Given the description of an element on the screen output the (x, y) to click on. 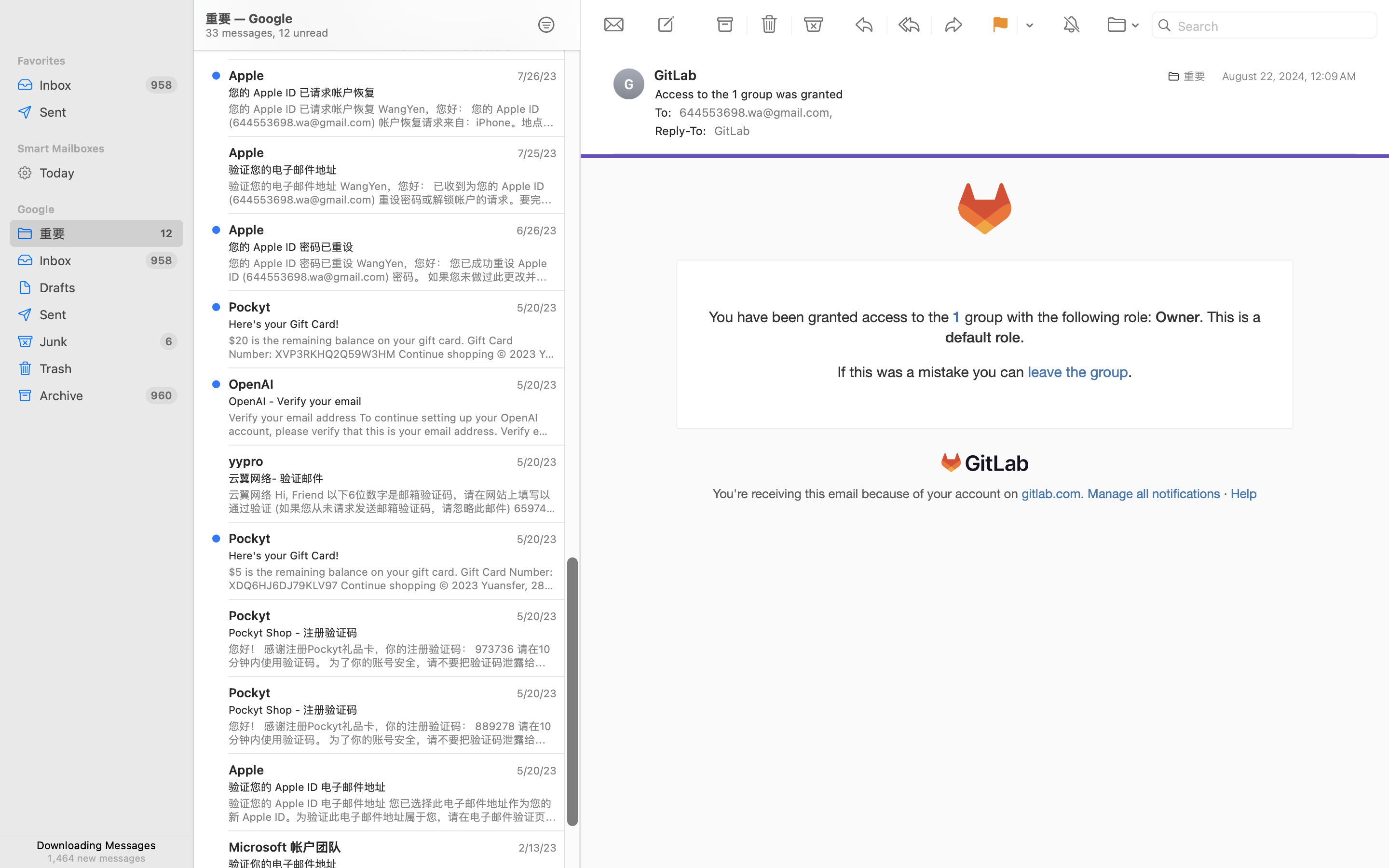
验证您的 Apple ID 电子邮件地址 Element type: AXStaticText (388, 786)
OpenAI - Verify your email Element type: AXStaticText (388, 400)
验证您的电子邮件地址 Element type: AXStaticText (388, 169)
33 messages, 12 unread Element type: AXStaticText (360, 800)
1,464 new messages Element type: AXStaticText (95, 857)
